Given the description of an element on the screen output the (x, y) to click on. 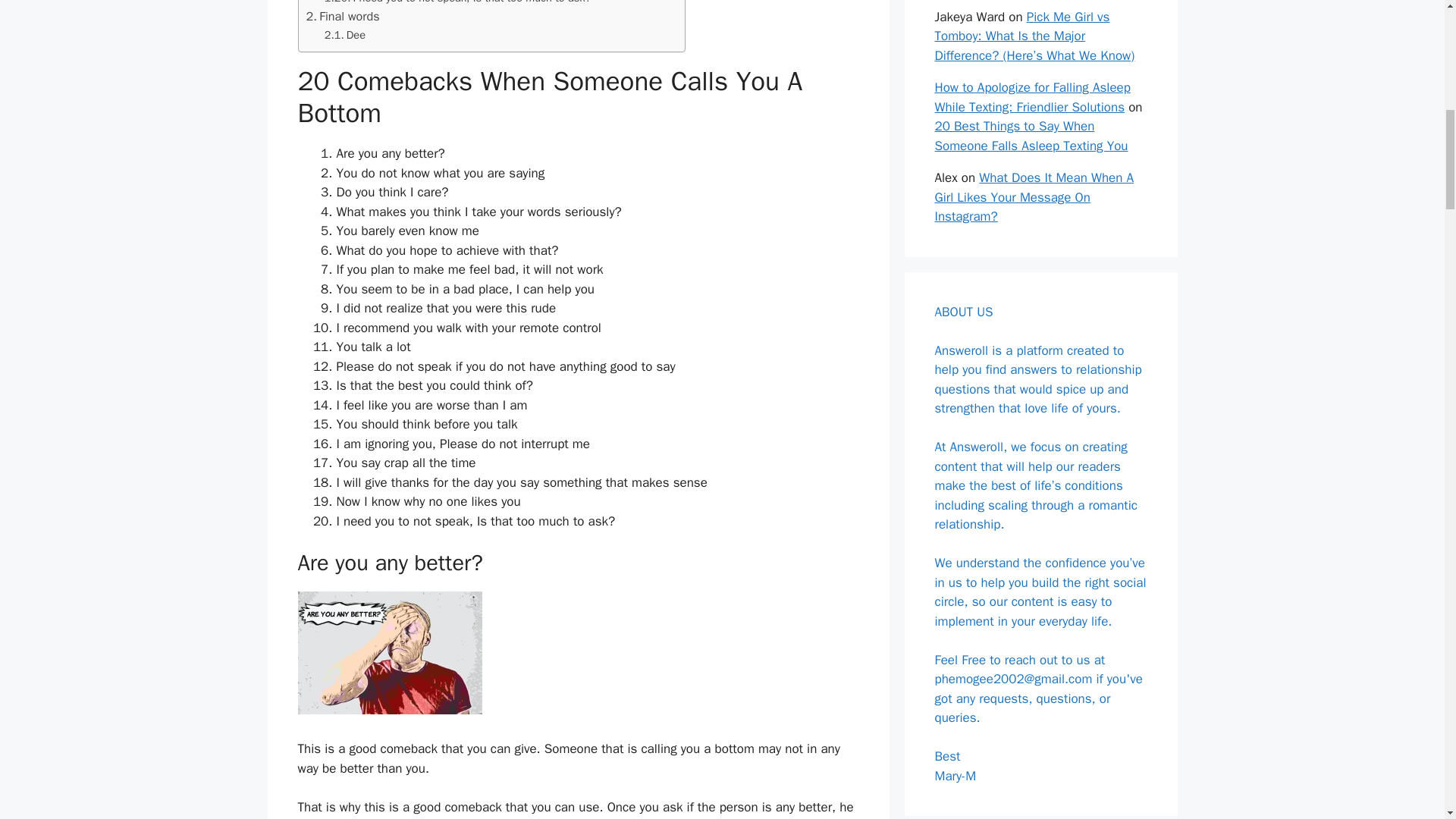
I need you to not speak, Is that too much to ask? (457, 3)
